Given the description of an element on the screen output the (x, y) to click on. 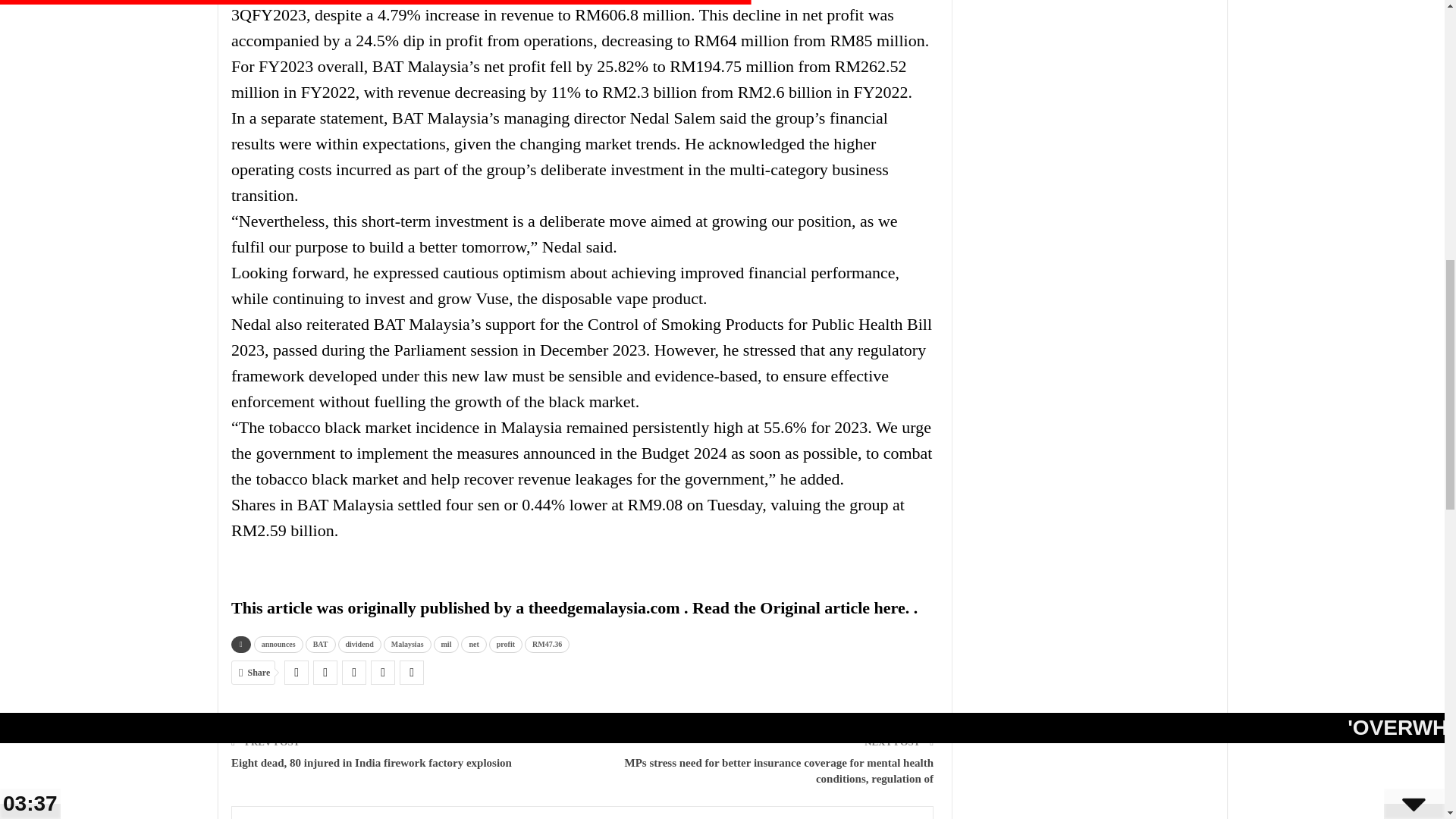
mil (446, 643)
RM47.36 (546, 643)
profit (505, 643)
BAT (320, 643)
theedgemalaysia.com (606, 606)
announces (277, 643)
Malaysias (407, 643)
net (473, 643)
dividend (359, 643)
Original article here. (836, 606)
